Given the description of an element on the screen output the (x, y) to click on. 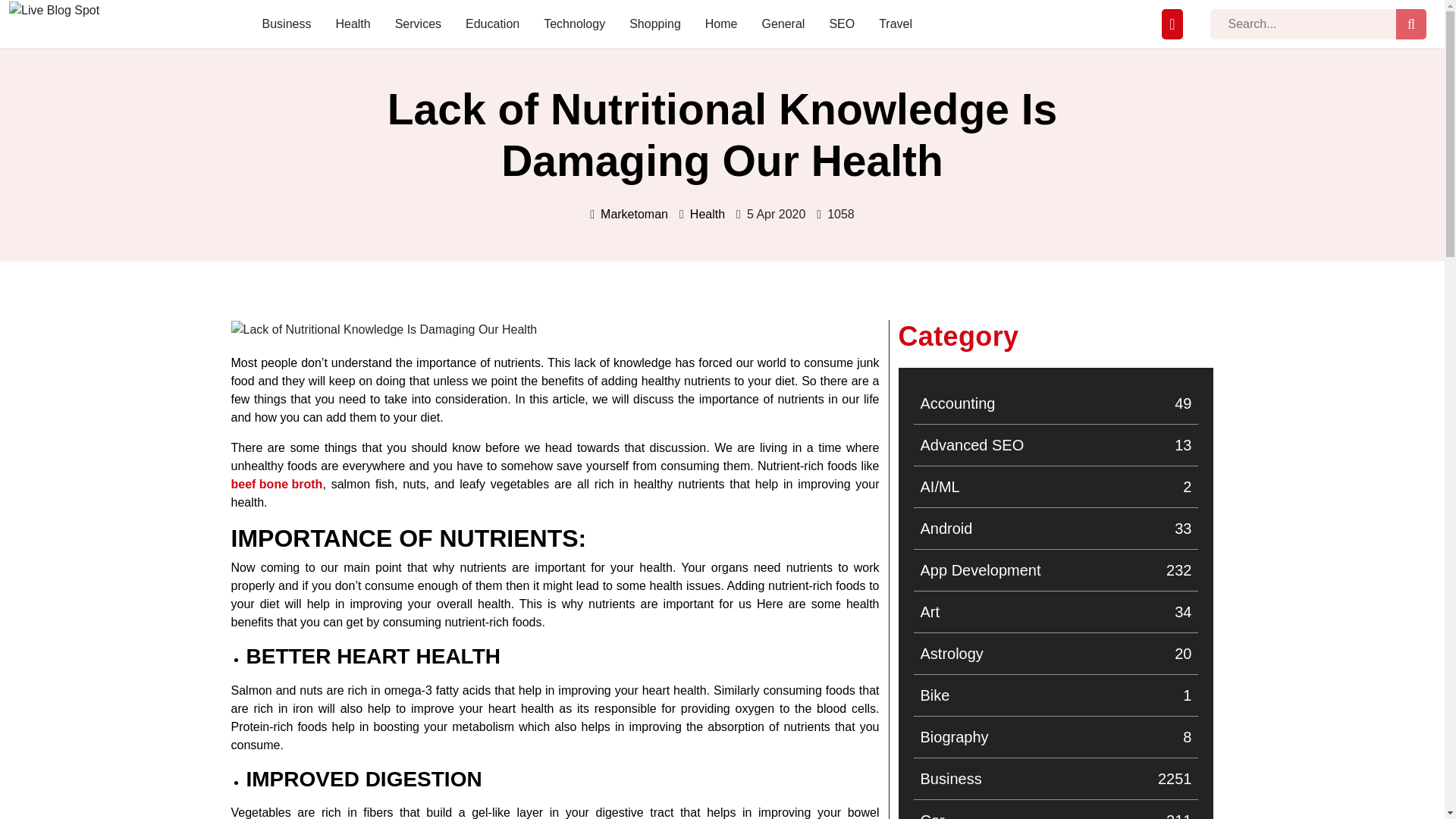
beef bone broth (275, 484)
Shopping (1056, 403)
Education (654, 24)
Lack of Nutritional Knowledge Is Damaging Our Health (1056, 653)
Technology (492, 24)
Posts by Marketoman (383, 330)
Services (1056, 569)
